Given the description of an element on the screen output the (x, y) to click on. 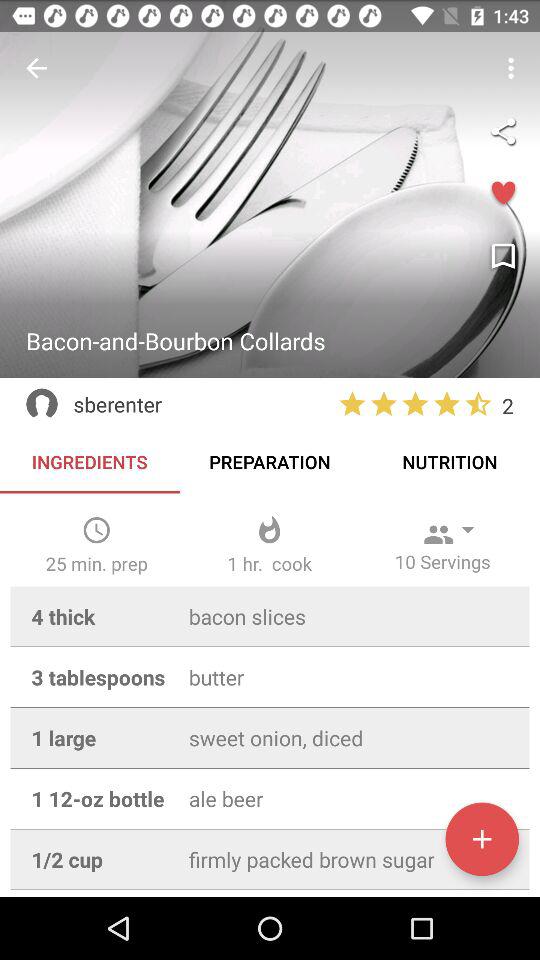
add recipe (482, 839)
